Given the description of an element on the screen output the (x, y) to click on. 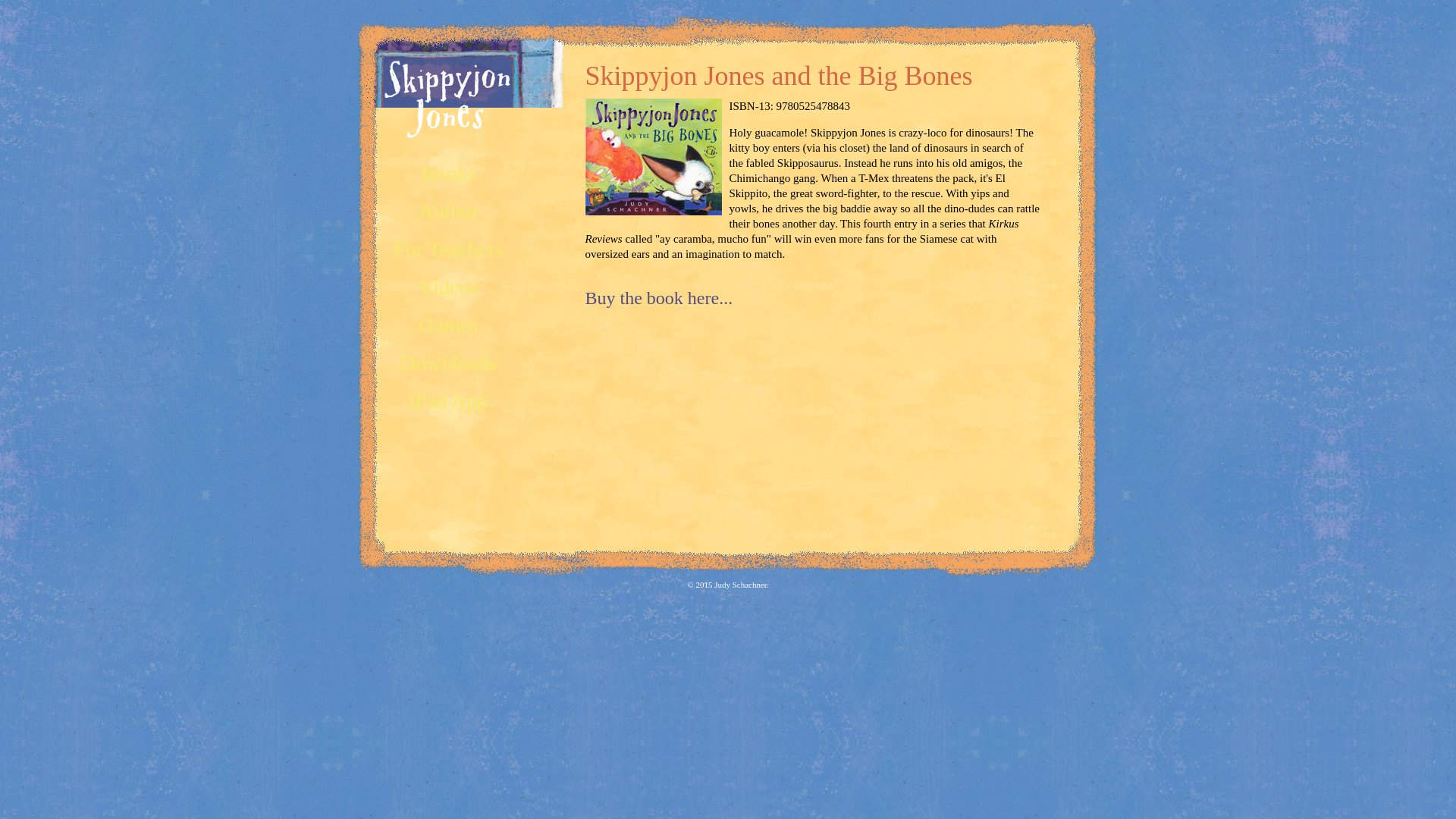
Books (449, 173)
Videos (449, 286)
Games (449, 324)
iPad App (448, 400)
Downloads (448, 362)
For Teachers (447, 249)
Author (449, 210)
Skippyjon Jones (446, 107)
